Given the description of an element on the screen output the (x, y) to click on. 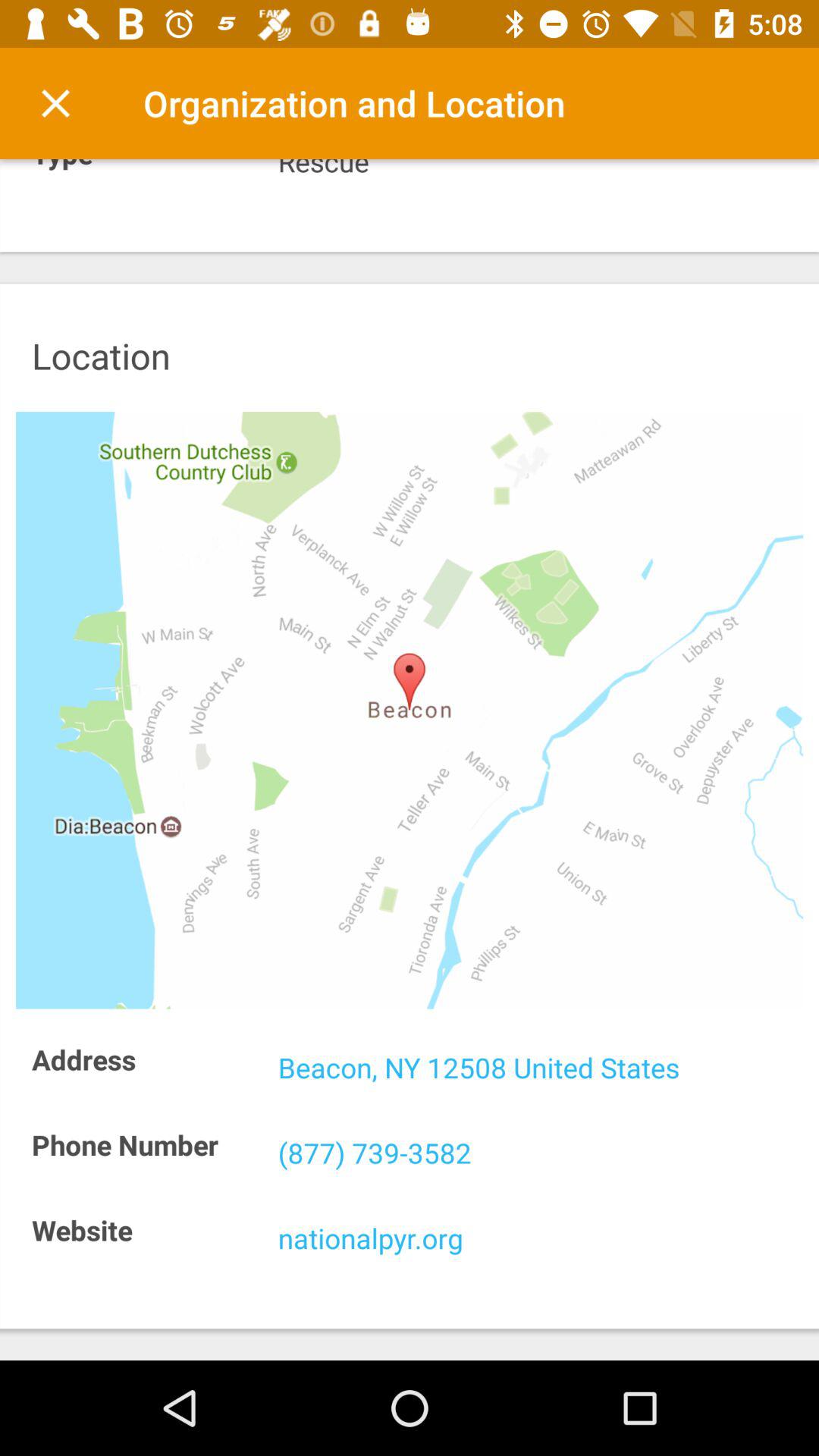
turn on the item next to type icon (540, 169)
